Given the description of an element on the screen output the (x, y) to click on. 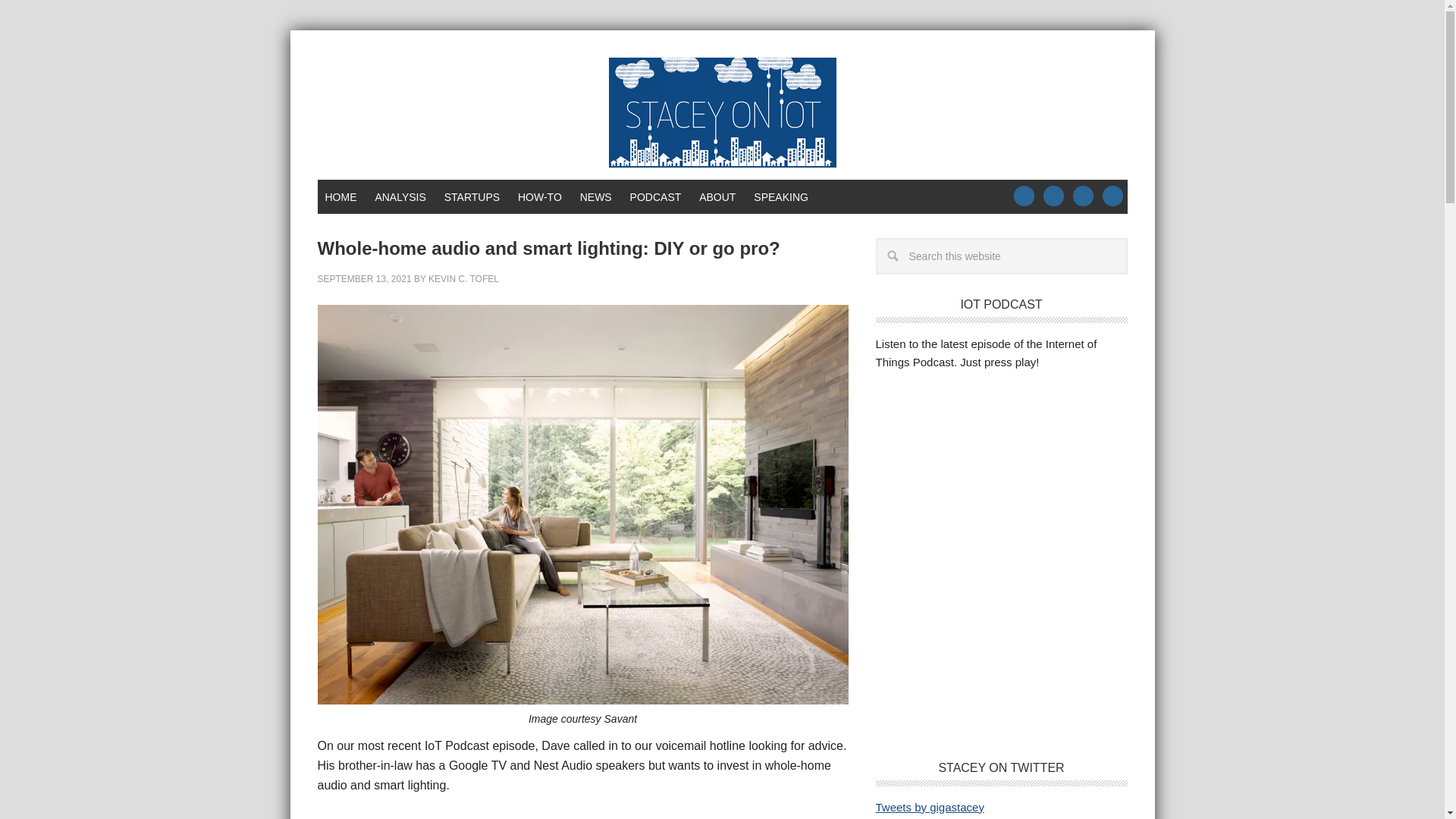
HOME (340, 195)
ANALYSIS (399, 195)
ABOUT (716, 195)
KEVIN C. TOFEL (463, 278)
NEWS (596, 195)
PODCAST (655, 195)
STARTUPS (471, 195)
HOW-TO (540, 195)
SPEAKING (780, 195)
